Given the description of an element on the screen output the (x, y) to click on. 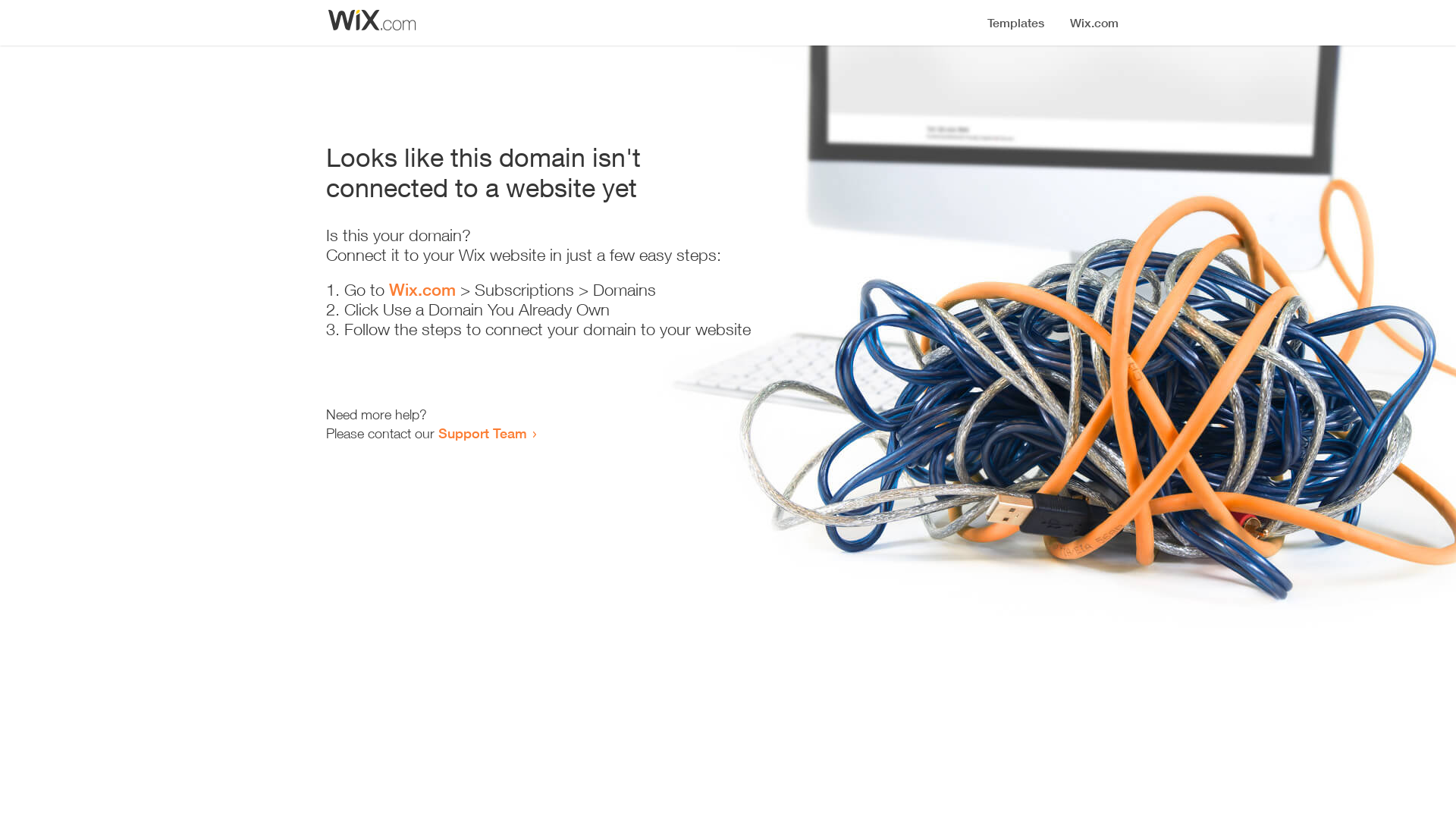
Wix.com Element type: text (422, 289)
Support Team Element type: text (482, 432)
